Given the description of an element on the screen output the (x, y) to click on. 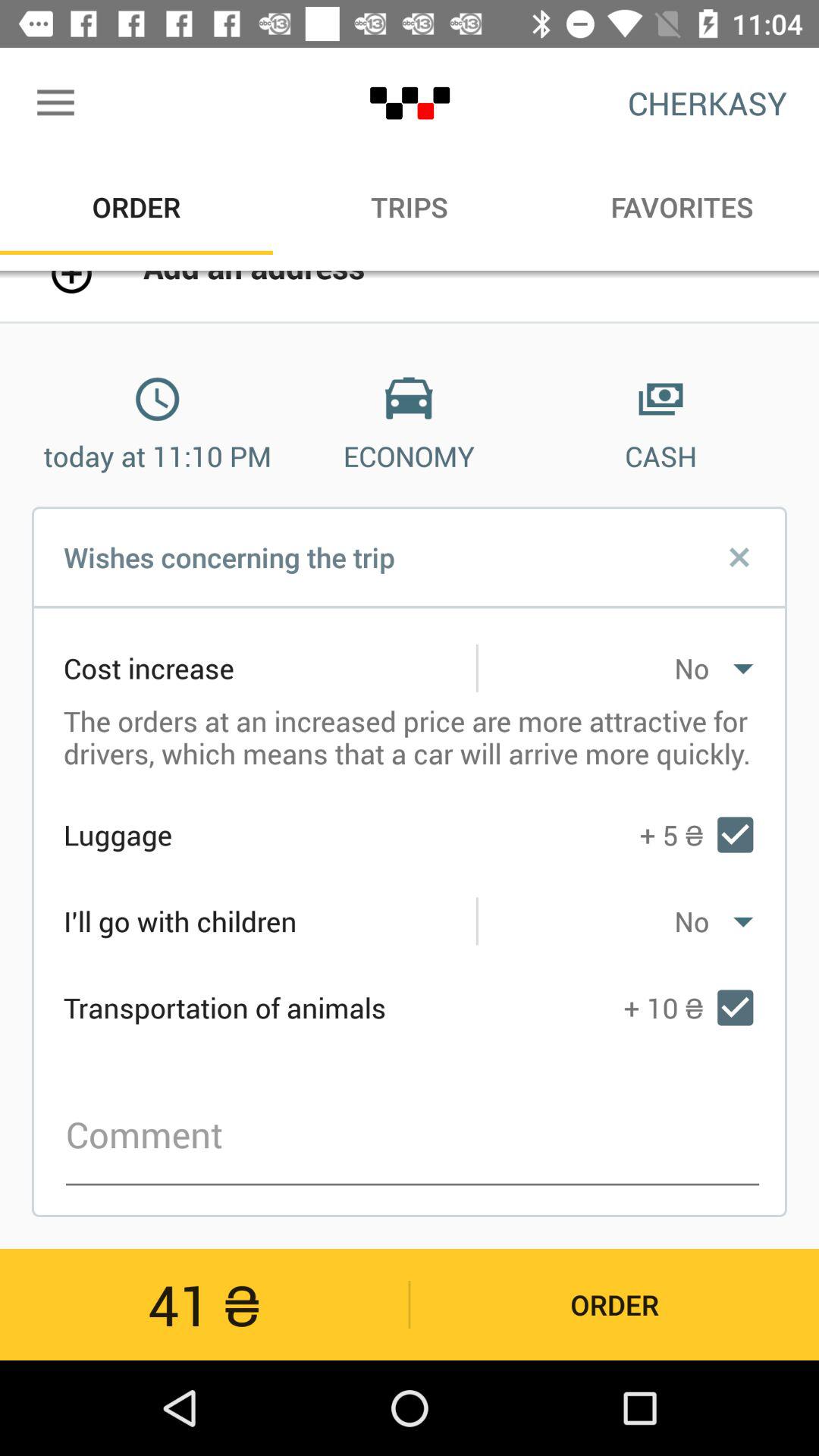
turn on cherkasy item (707, 102)
